Given the description of an element on the screen output the (x, y) to click on. 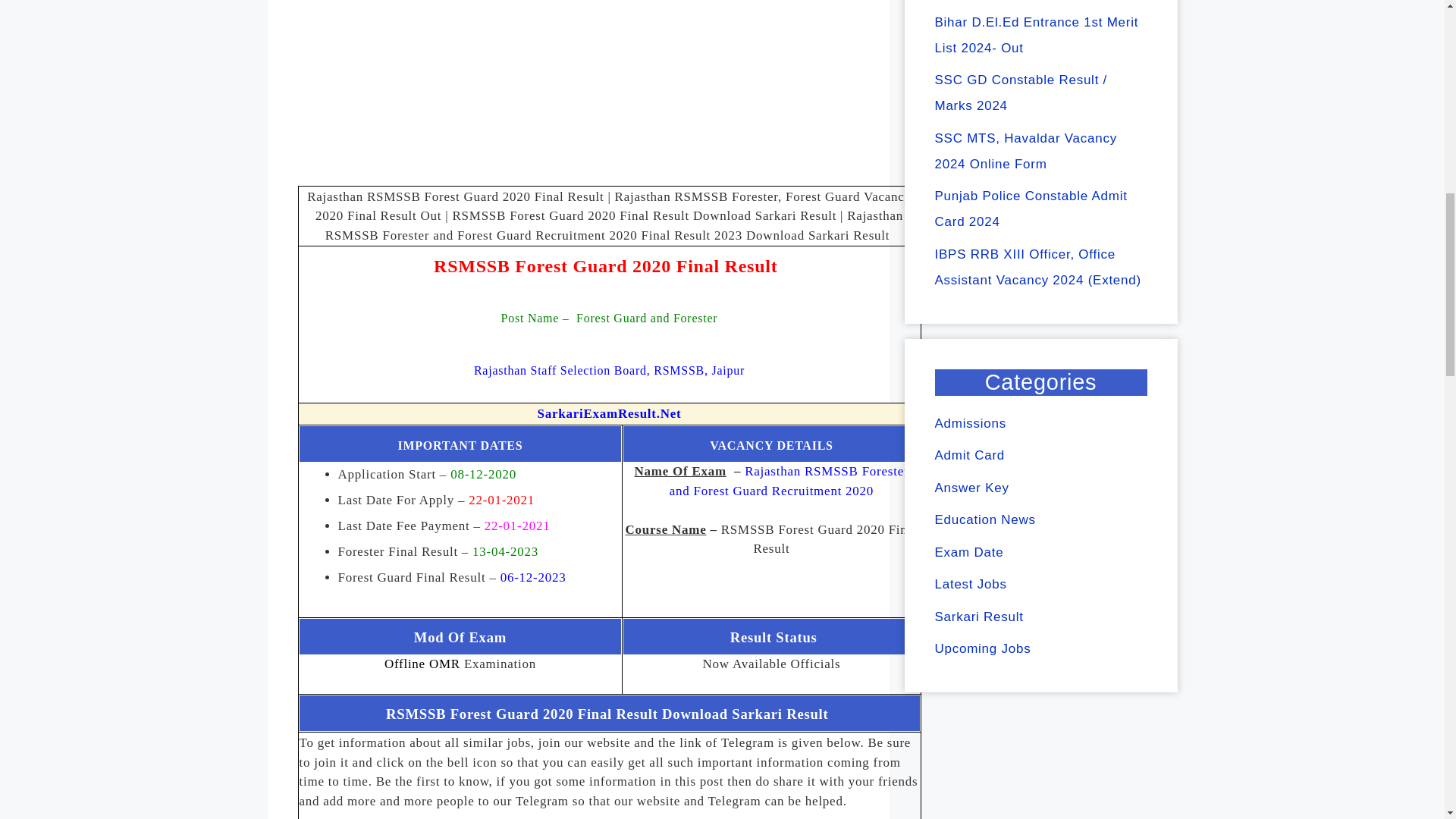
Admissions (970, 423)
SarkariExamResult.Net (609, 413)
Punjab Police Constable Admit Card 2024 (1030, 209)
Answer Key (971, 487)
Admit Card (969, 454)
Bihar D.El.Ed Entrance 1st Merit List 2024- Out (1036, 35)
Advertisement (608, 83)
SSC MTS, Havaldar Vacancy 2024 Online Form (1025, 151)
